Given the description of an element on the screen output the (x, y) to click on. 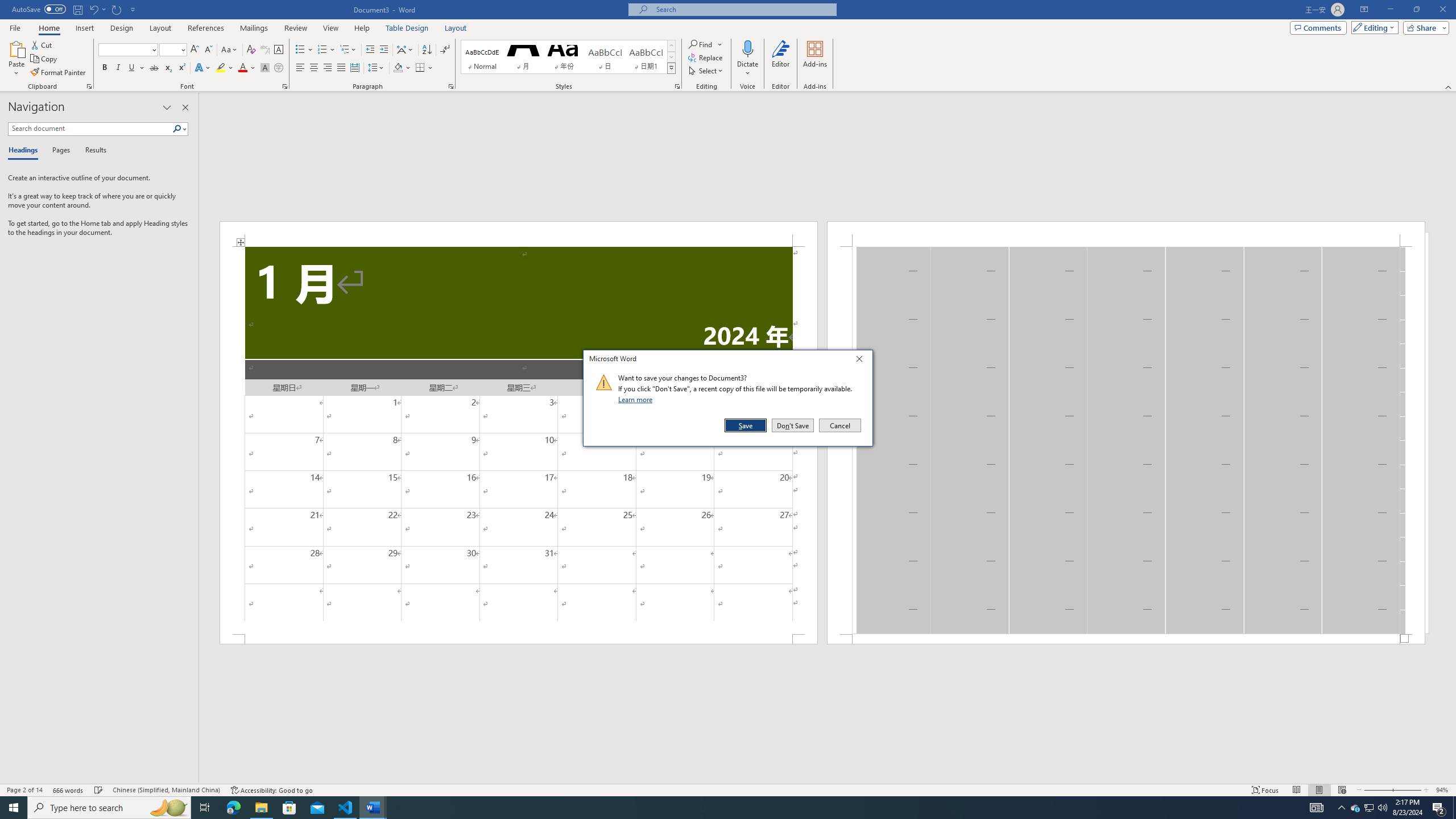
Word Count 666 words (68, 790)
Pages (59, 150)
Results (91, 150)
Bold (104, 67)
Text Highlight Color (224, 67)
Microsoft Edge (1368, 807)
Align Left (233, 807)
Microsoft search (300, 67)
Font Color (742, 9)
